Given the description of an element on the screen output the (x, y) to click on. 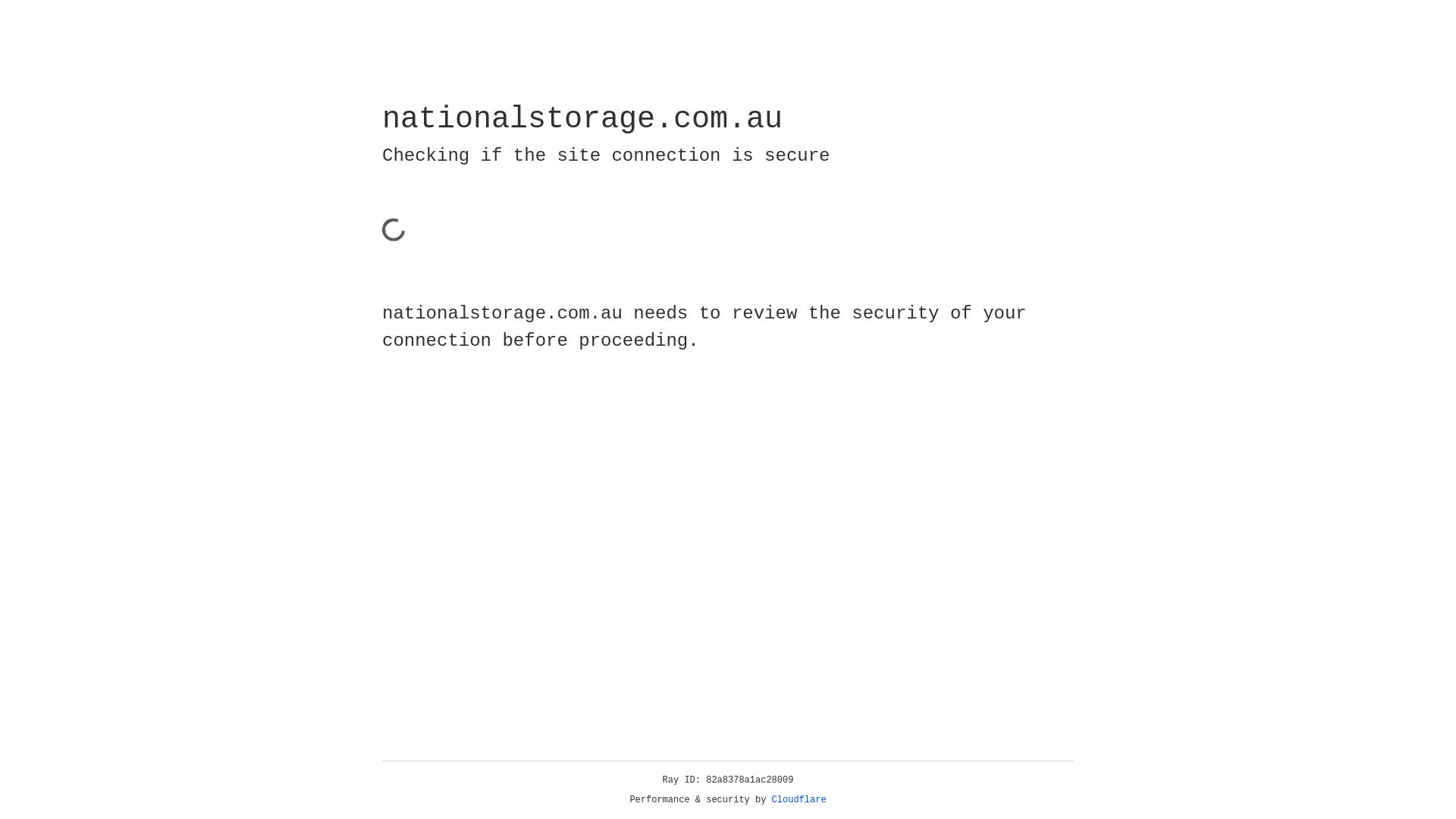
Cloudflare Element type: text (798, 799)
